Given the description of an element on the screen output the (x, y) to click on. 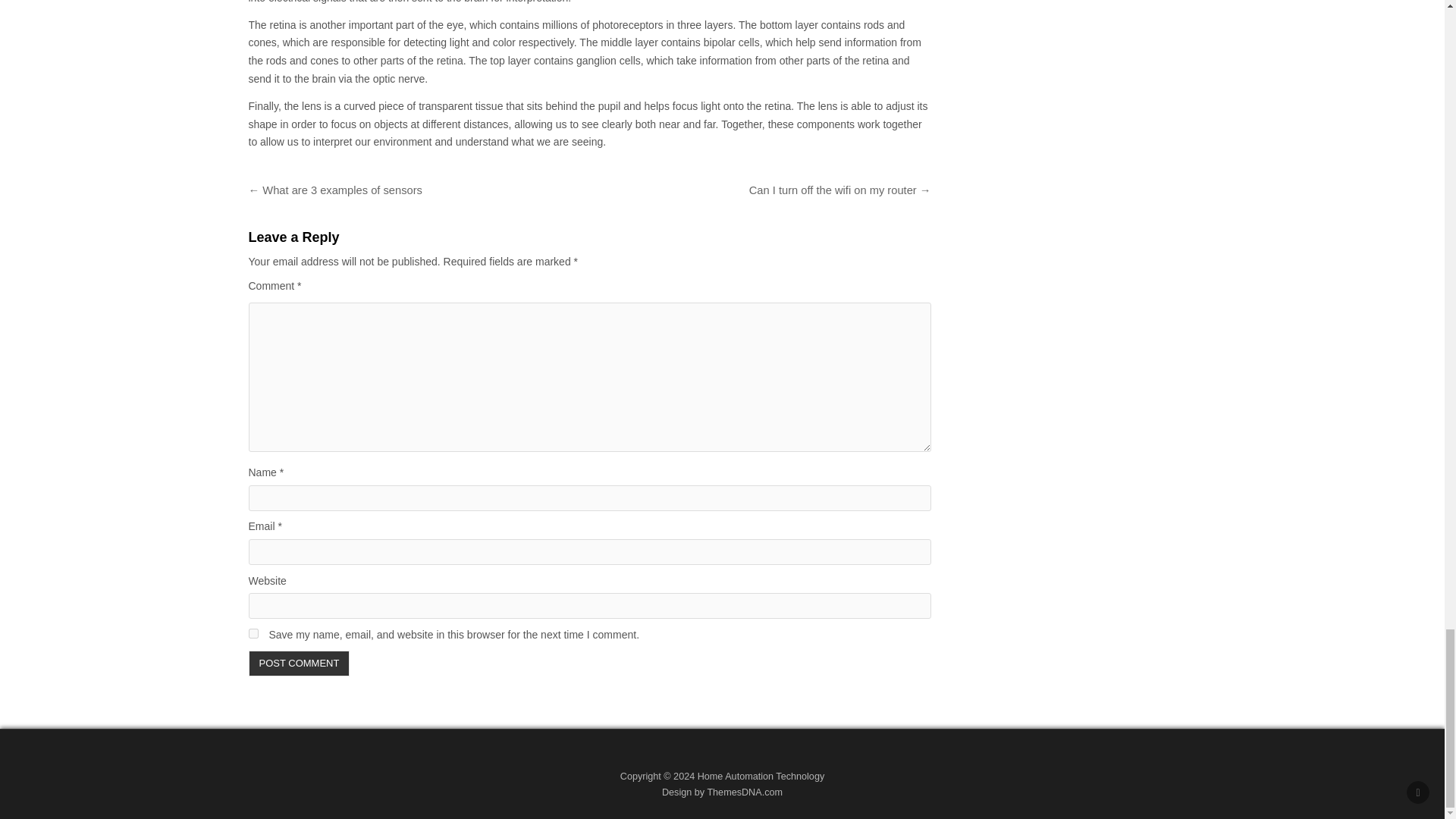
yes (253, 633)
Design by ThemesDNA.com (722, 792)
Post Comment (299, 662)
Post Comment (299, 662)
